Given the description of an element on the screen output the (x, y) to click on. 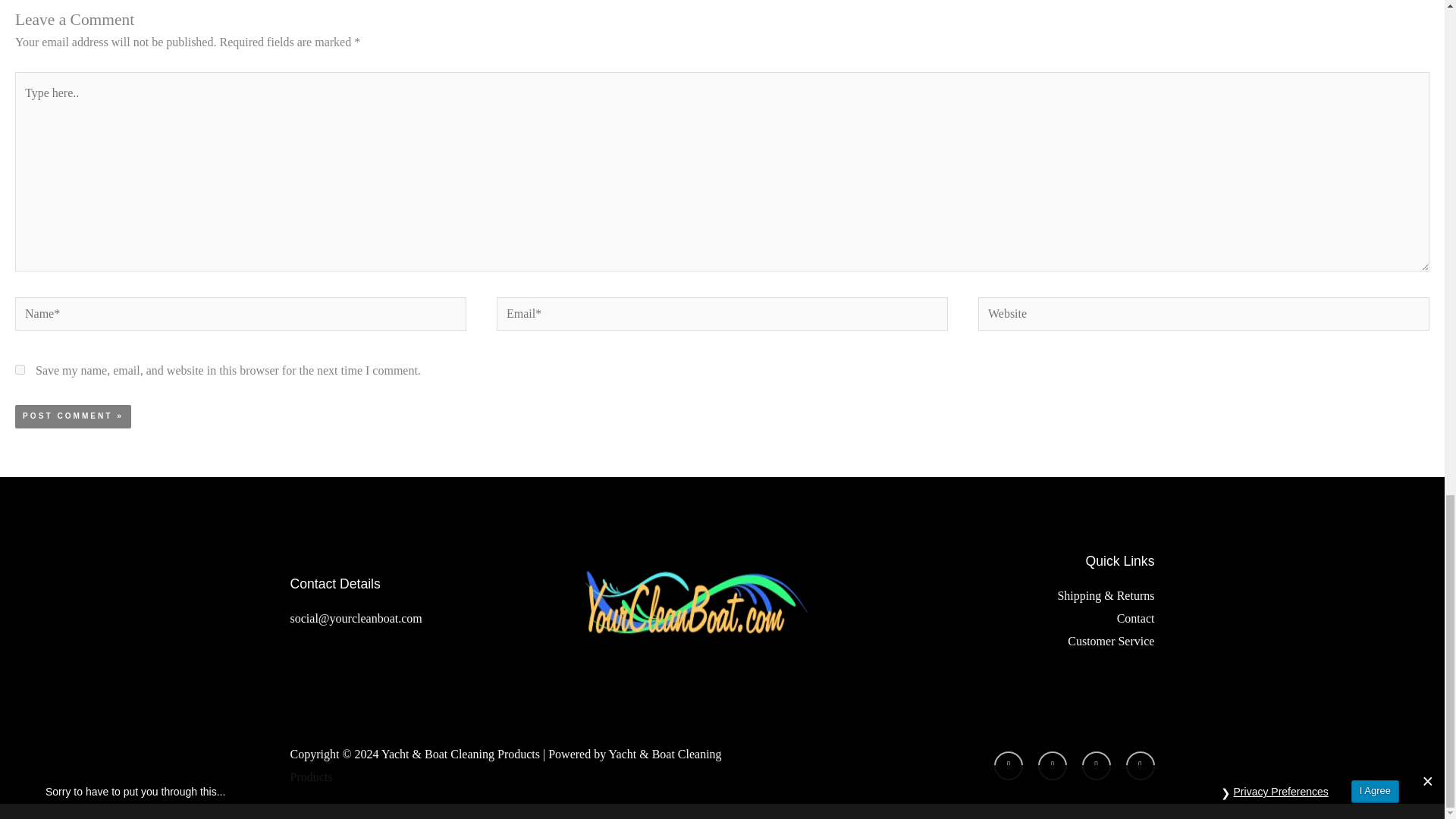
Instagram (1052, 765)
Facebook-f (1095, 765)
yes (19, 369)
Twitter (1139, 765)
Customer Service (1010, 640)
Contact (1010, 618)
Youtube (1008, 765)
